Given the description of an element on the screen output the (x, y) to click on. 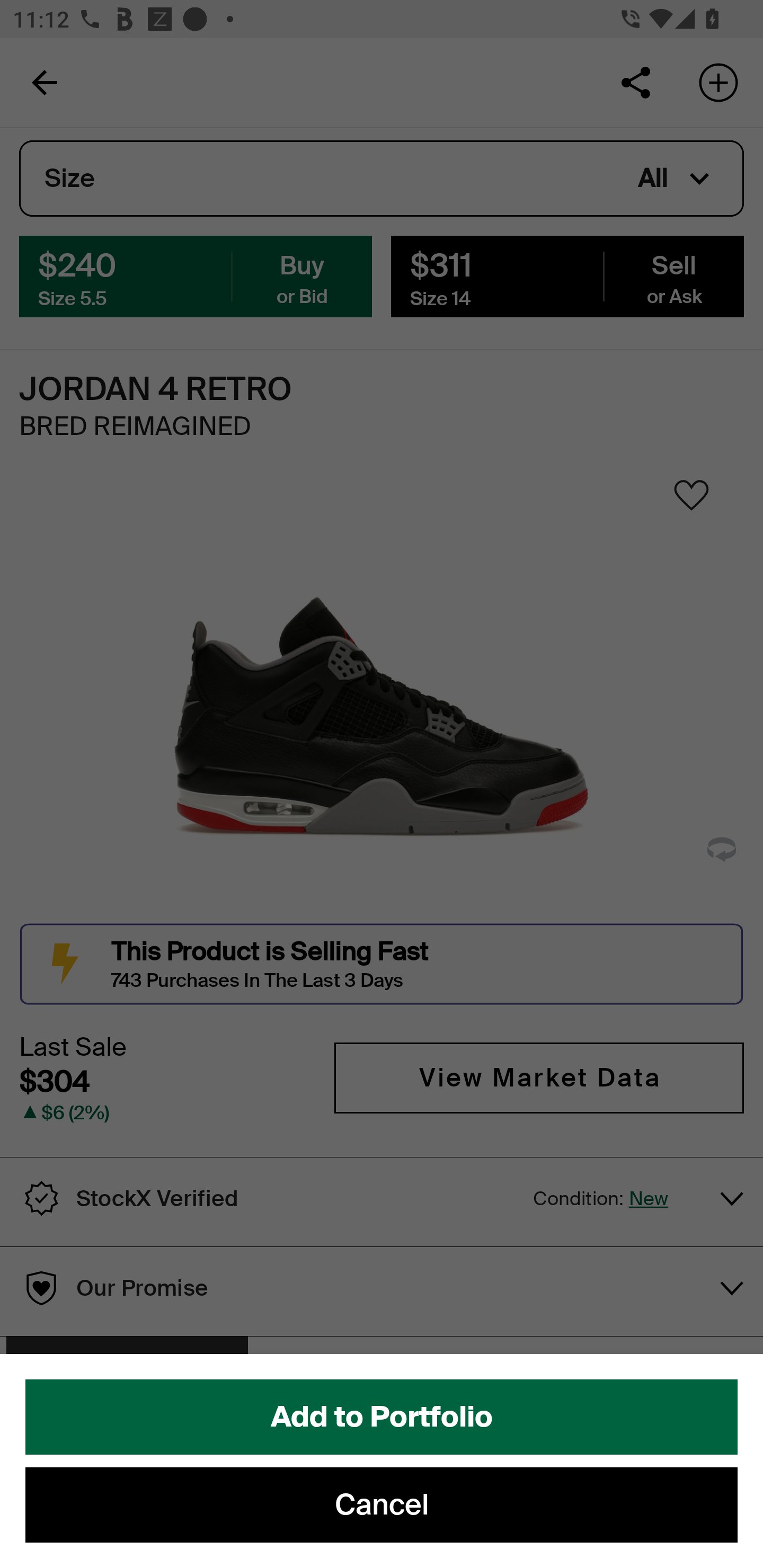
Add to Portfolio (381, 1417)
Cancel (381, 1504)
